Given the description of an element on the screen output the (x, y) to click on. 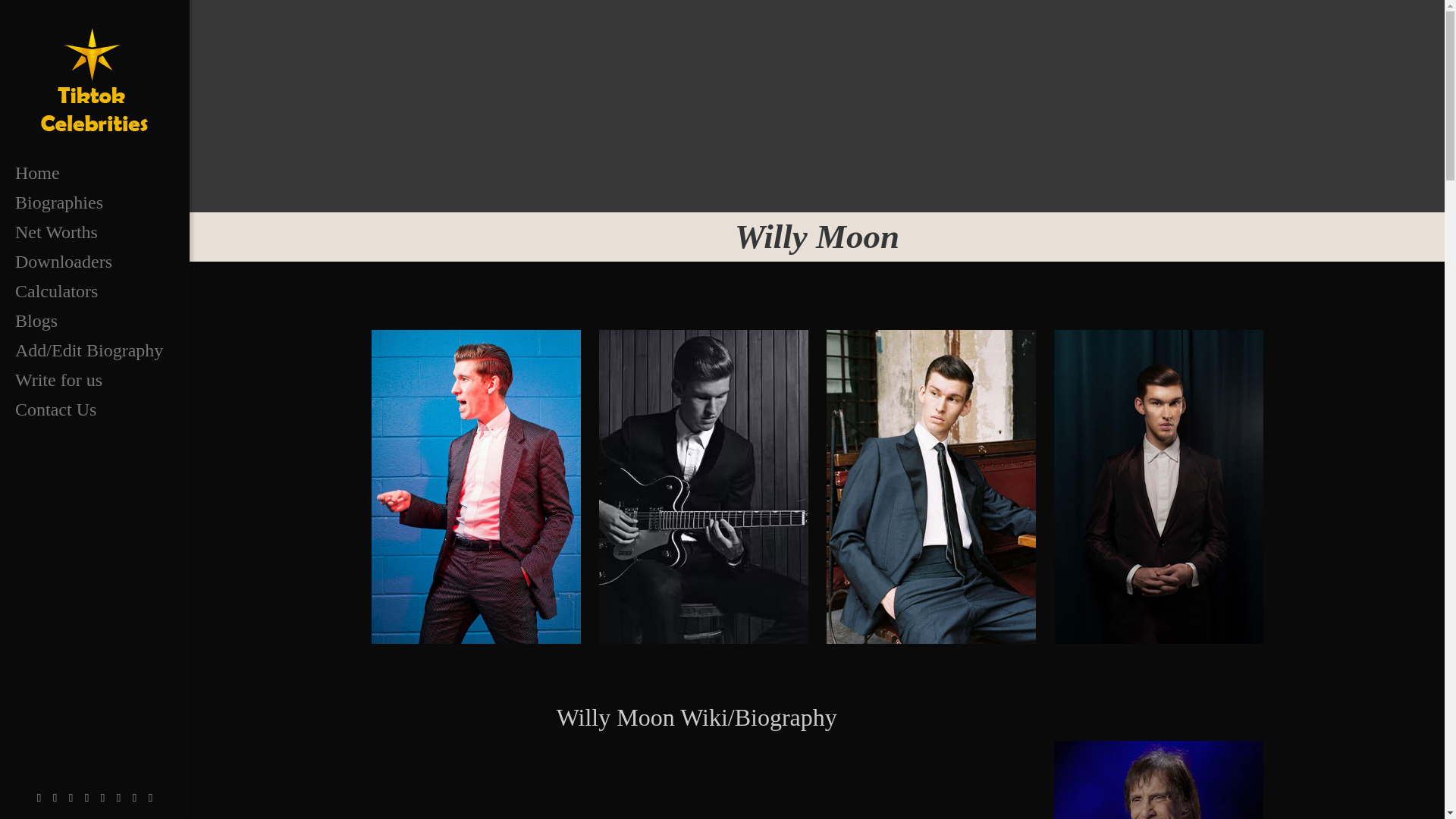
Vimeo (71, 797)
Net Worths (94, 232)
Home (94, 173)
Downloaders (94, 261)
Blogs (94, 320)
Write for us (94, 379)
Facebook (39, 797)
Calculators (94, 291)
Contact Us (94, 409)
Tiktok Celebrities (94, 79)
